Given the description of an element on the screen output the (x, y) to click on. 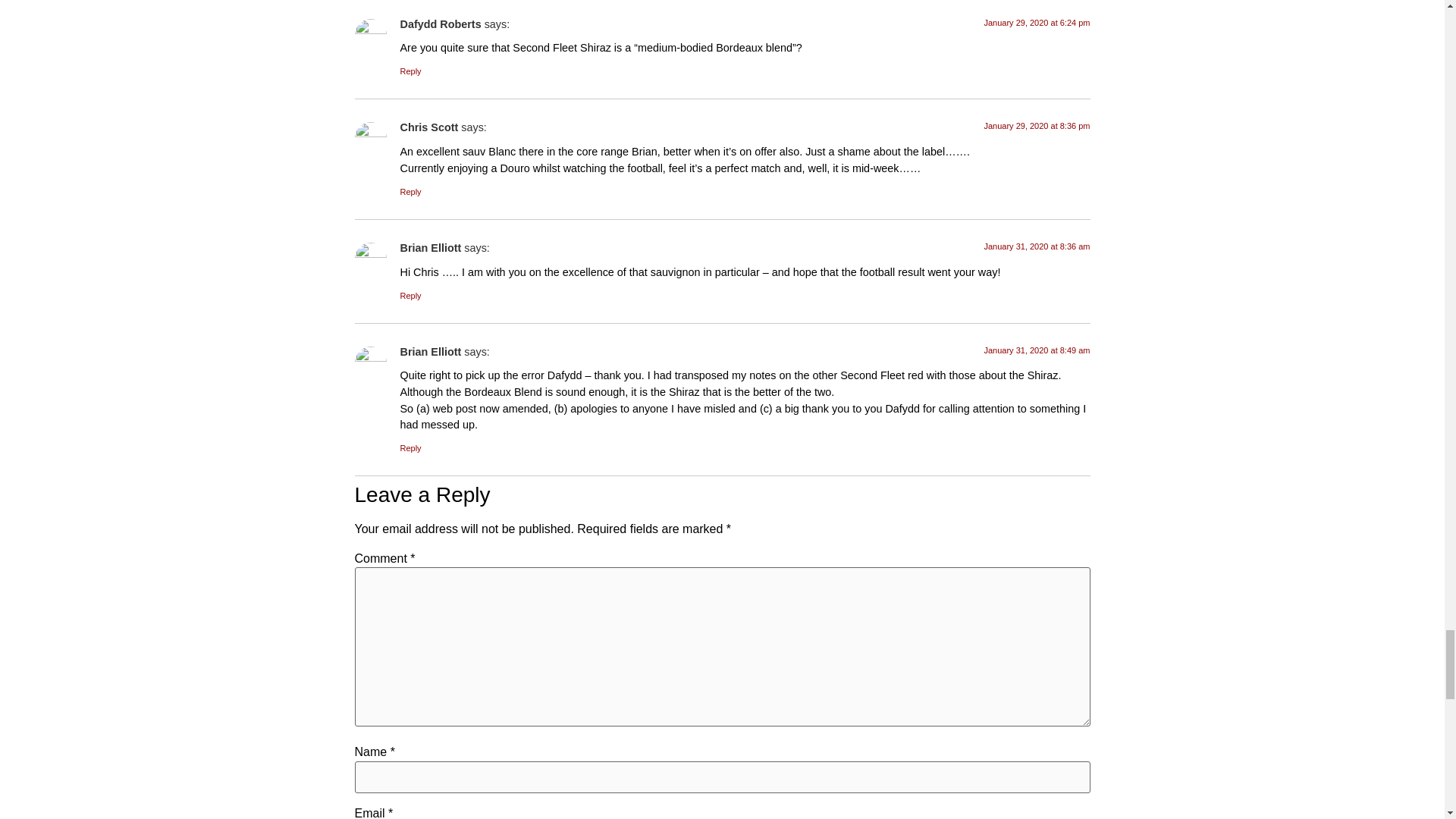
January 29, 2020 at 6:24 pm (1036, 22)
January 31, 2020 at 8:49 am (1036, 349)
Reply (411, 295)
Reply (411, 447)
January 31, 2020 at 8:36 am (1036, 245)
Reply (411, 71)
January 29, 2020 at 8:36 pm (1036, 125)
Reply (411, 191)
